Given the description of an element on the screen output the (x, y) to click on. 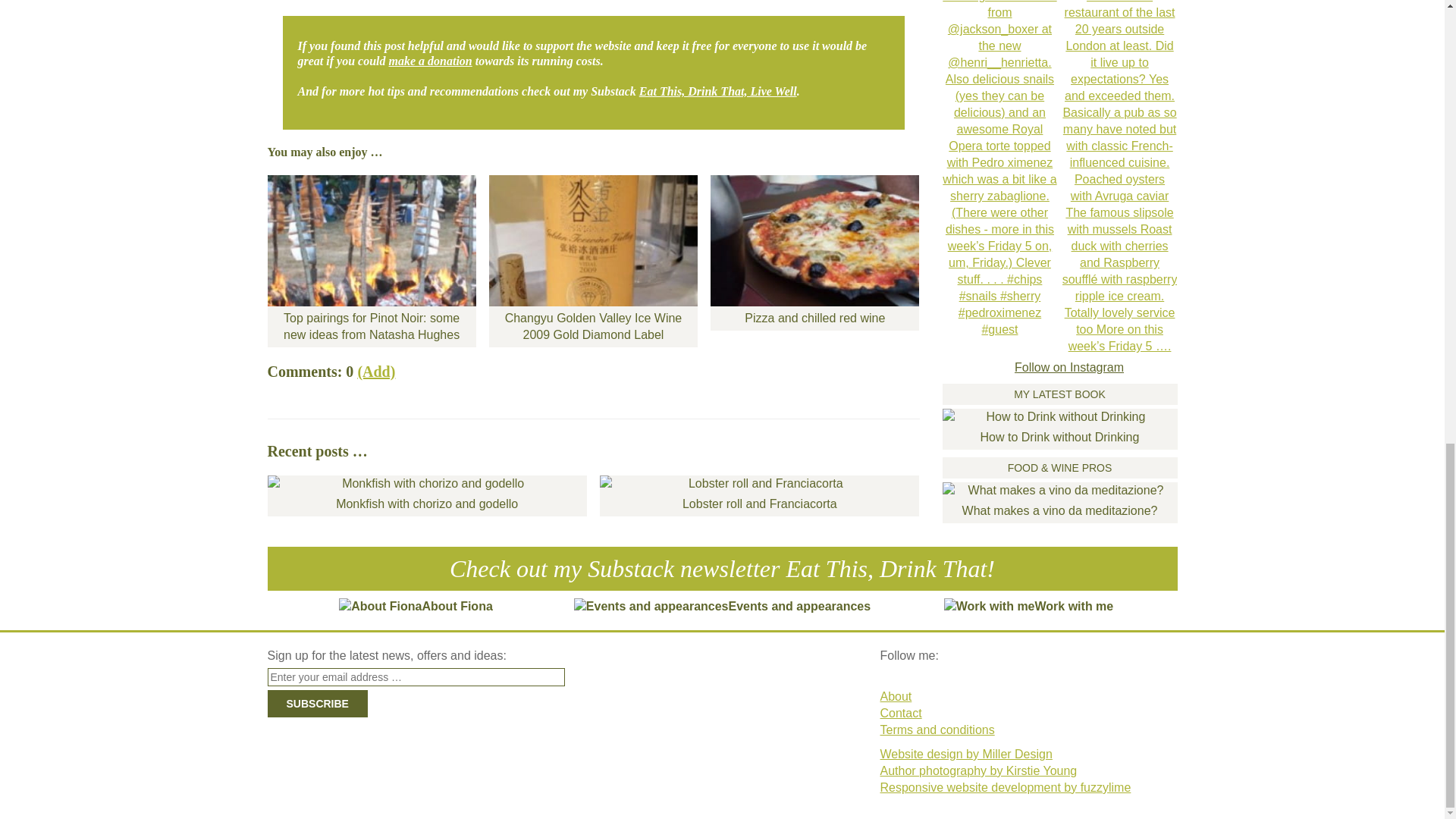
Pizza and chilled red wine (814, 252)
Changyu Golden Valley Ice Wine 2009 Gold Diamond Label (593, 261)
Eat This, Drink That, Live Well (717, 91)
make a donation (429, 60)
Subscribe (316, 703)
